Given the description of an element on the screen output the (x, y) to click on. 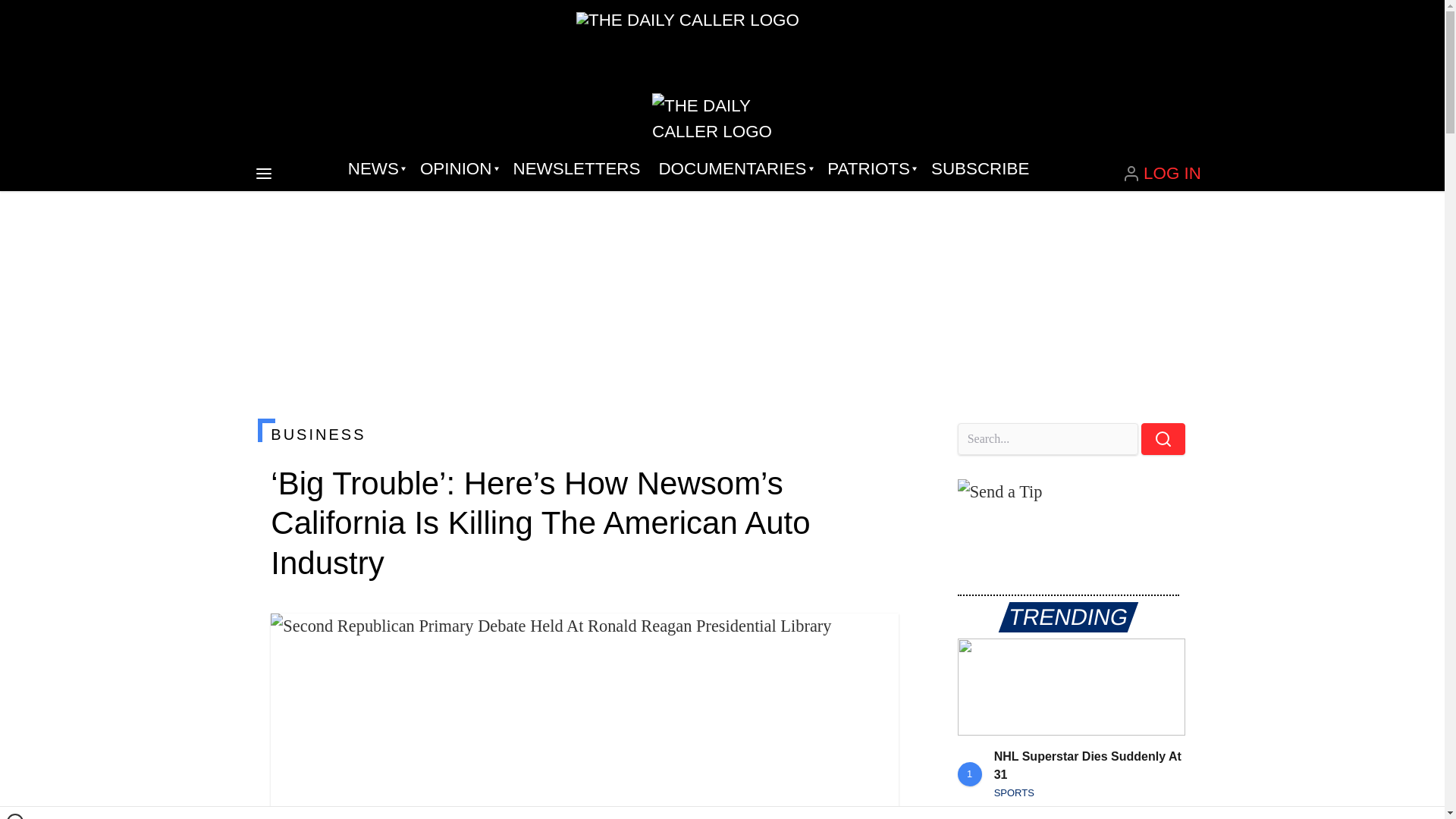
DOCUMENTARIES (733, 168)
SUBSCRIBE (979, 168)
NHL Superstar Dies Suddenly At 31 (1071, 687)
NEWS (374, 168)
PATRIOTS (869, 168)
Close window (14, 816)
NEWSLETTERS (576, 168)
Toggle fullscreen (874, 636)
OPINION (456, 168)
